Given the description of an element on the screen output the (x, y) to click on. 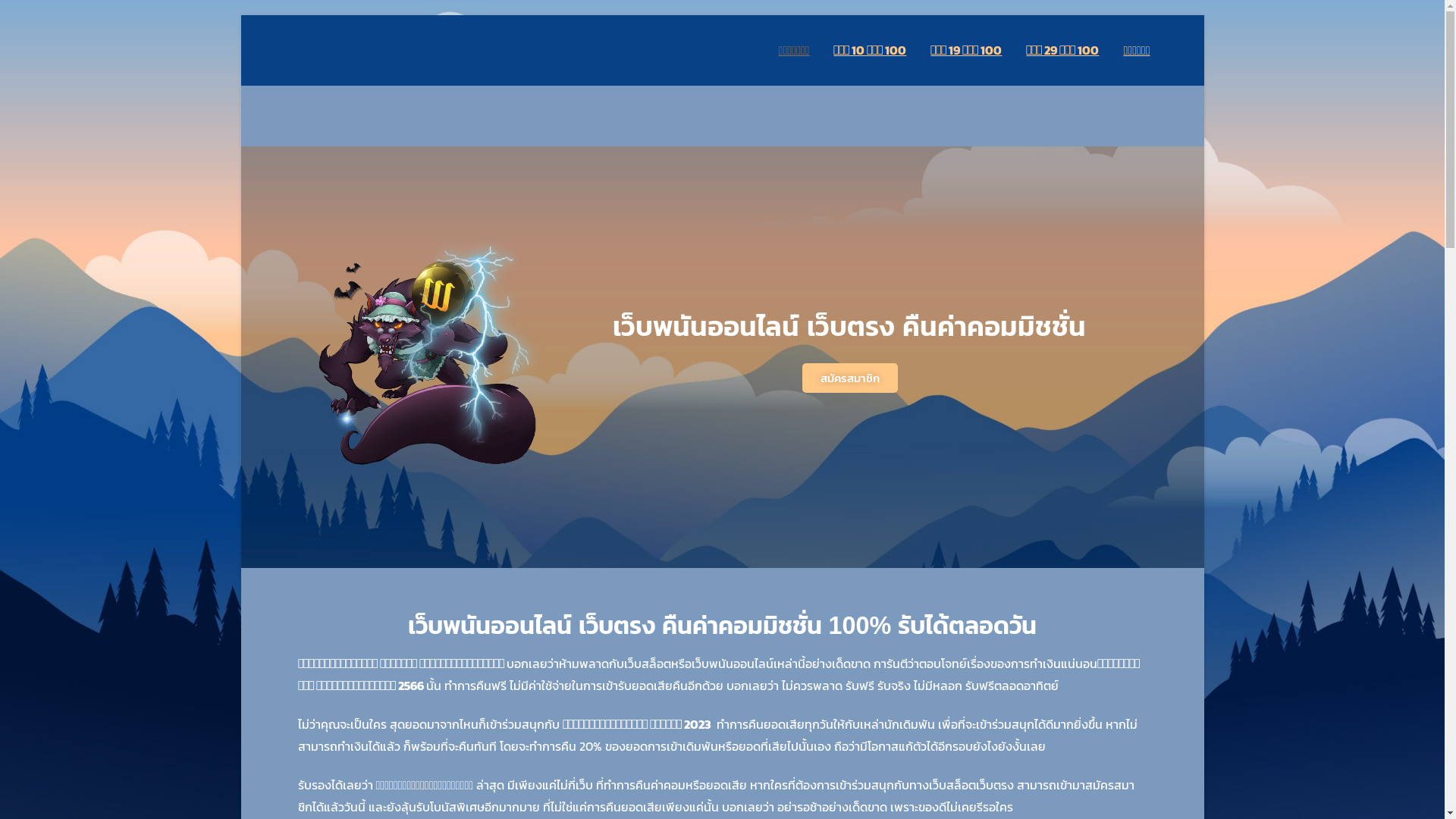
12betgroup.com Element type: text (332, 60)
